Given the description of an element on the screen output the (x, y) to click on. 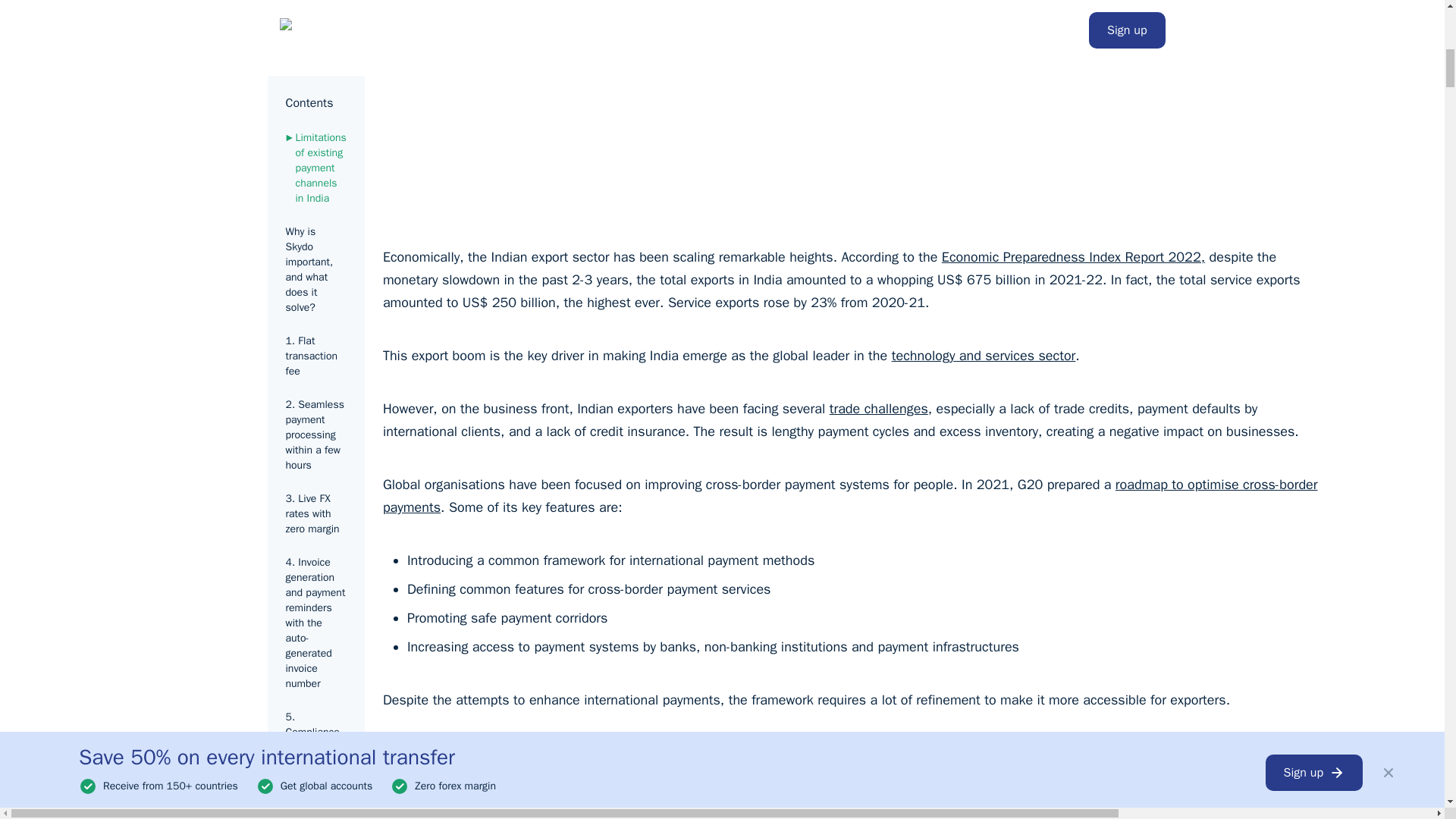
trade challenges (878, 408)
technology and services sector (983, 355)
roadmap to optimise cross-border payments (849, 495)
Economic Preparedness Index Report 2022, (1073, 256)
